Given the description of an element on the screen output the (x, y) to click on. 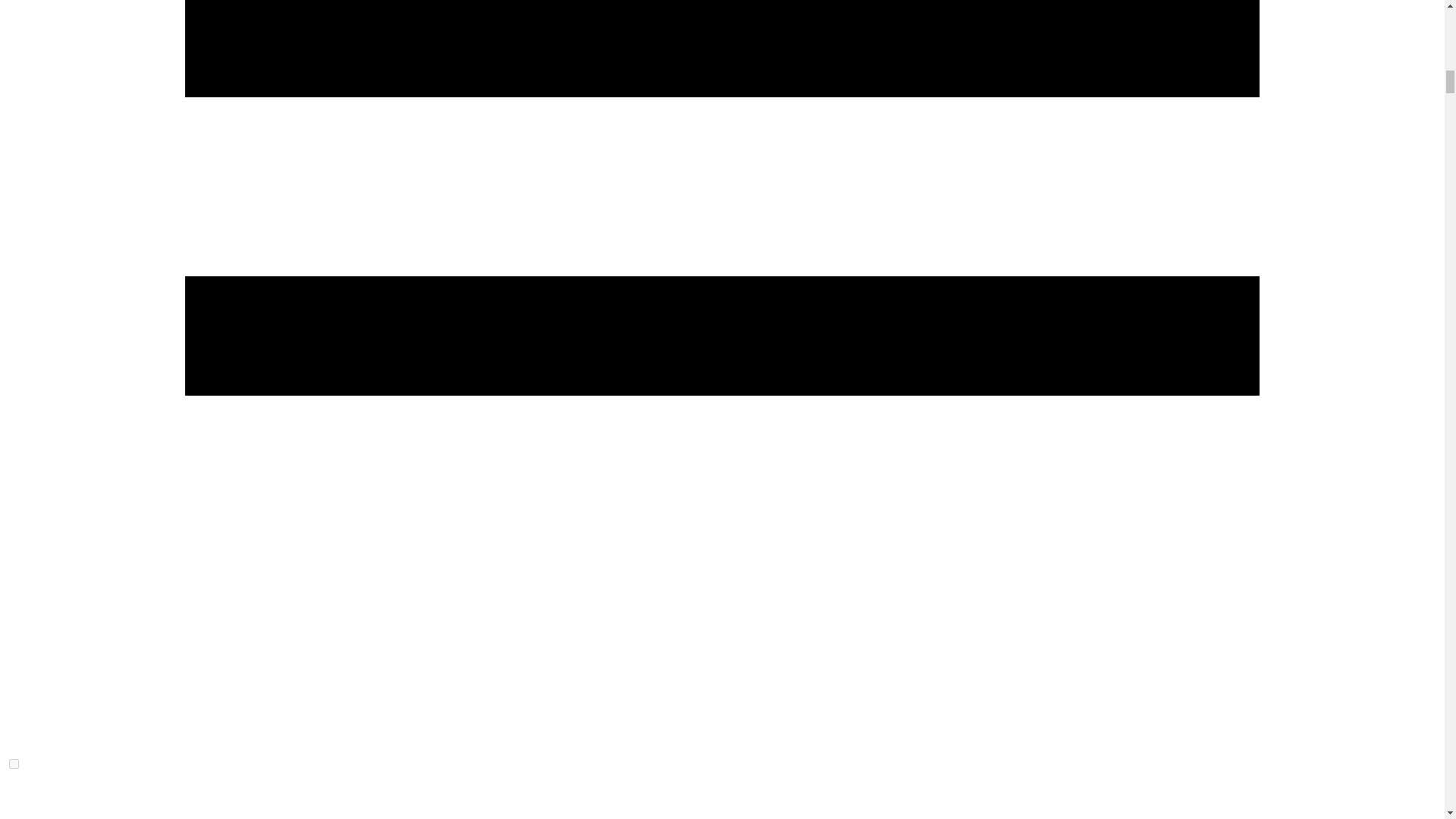
on (13, 764)
